Given the description of an element on the screen output the (x, y) to click on. 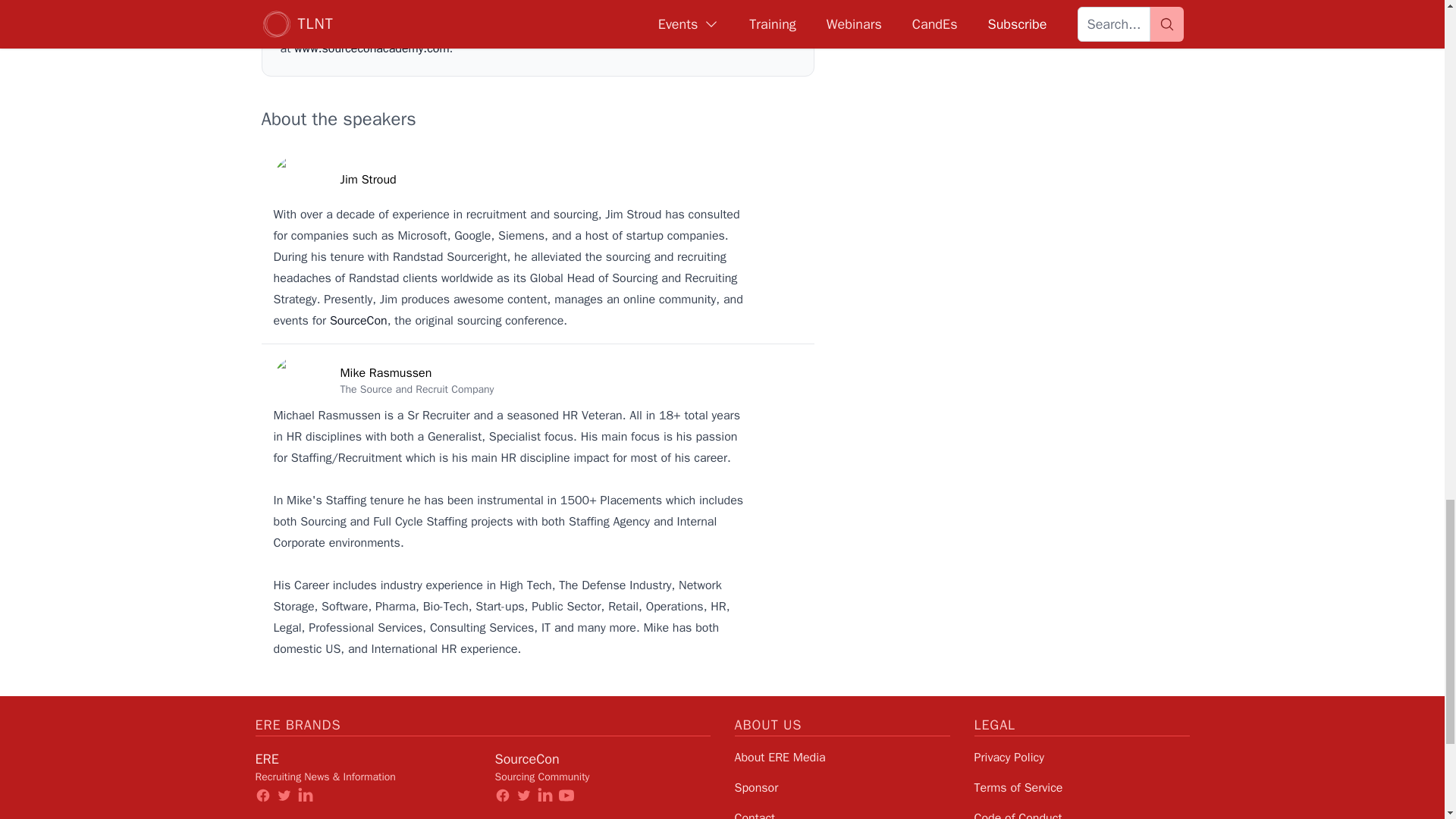
youtube (565, 795)
SourceCon (527, 759)
ERE (266, 759)
twitter (523, 795)
Talent42 (521, 818)
Contact (753, 814)
www.sourceconacademy.com (371, 48)
linkedin (544, 795)
Code of Conduct (1017, 814)
linkedin (305, 795)
facebook (502, 795)
Terms of Service (1018, 787)
About ERE Media (779, 757)
twitter (283, 795)
TLNT (268, 818)
